Given the description of an element on the screen output the (x, y) to click on. 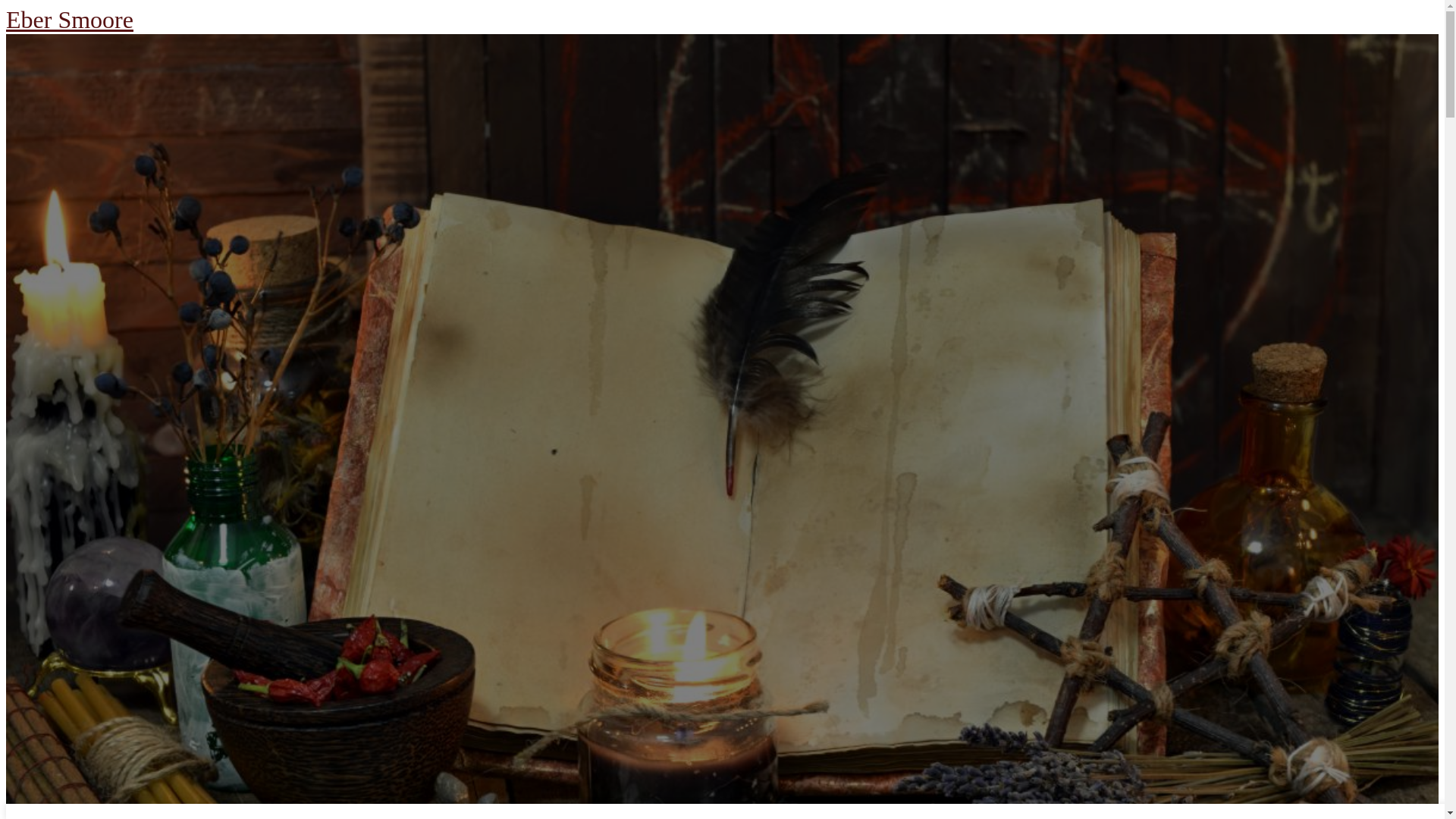
Eber Smoore (69, 19)
